Given the description of an element on the screen output the (x, y) to click on. 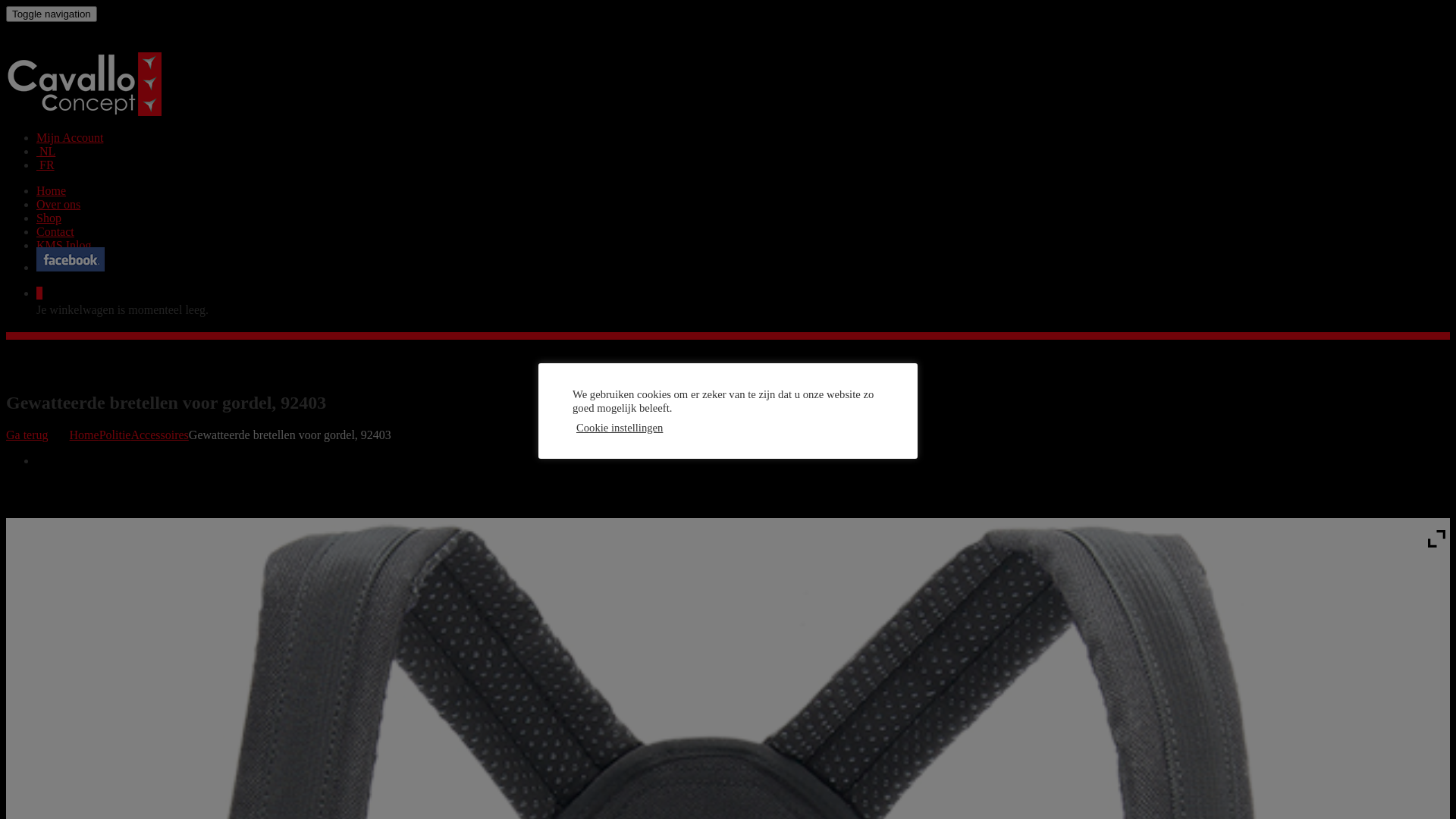
Over ons Element type: text (58, 203)
Contact Element type: text (55, 231)
Accessoires Element type: text (159, 434)
Mijn Account Element type: text (69, 137)
Shop Element type: text (48, 217)
Toggle navigation Element type: text (51, 13)
KMS Inlog Element type: text (63, 244)
Cavallo Concept Element type: hover (83, 111)
Home Element type: text (50, 190)
 FR Element type: text (45, 164)
Home Element type: text (84, 434)
Ga terug Element type: text (27, 434)
0 Element type: text (39, 292)
Politie Element type: text (115, 434)
 NL Element type: text (45, 150)
Cookie instellingen Element type: text (619, 427)
